Given the description of an element on the screen output the (x, y) to click on. 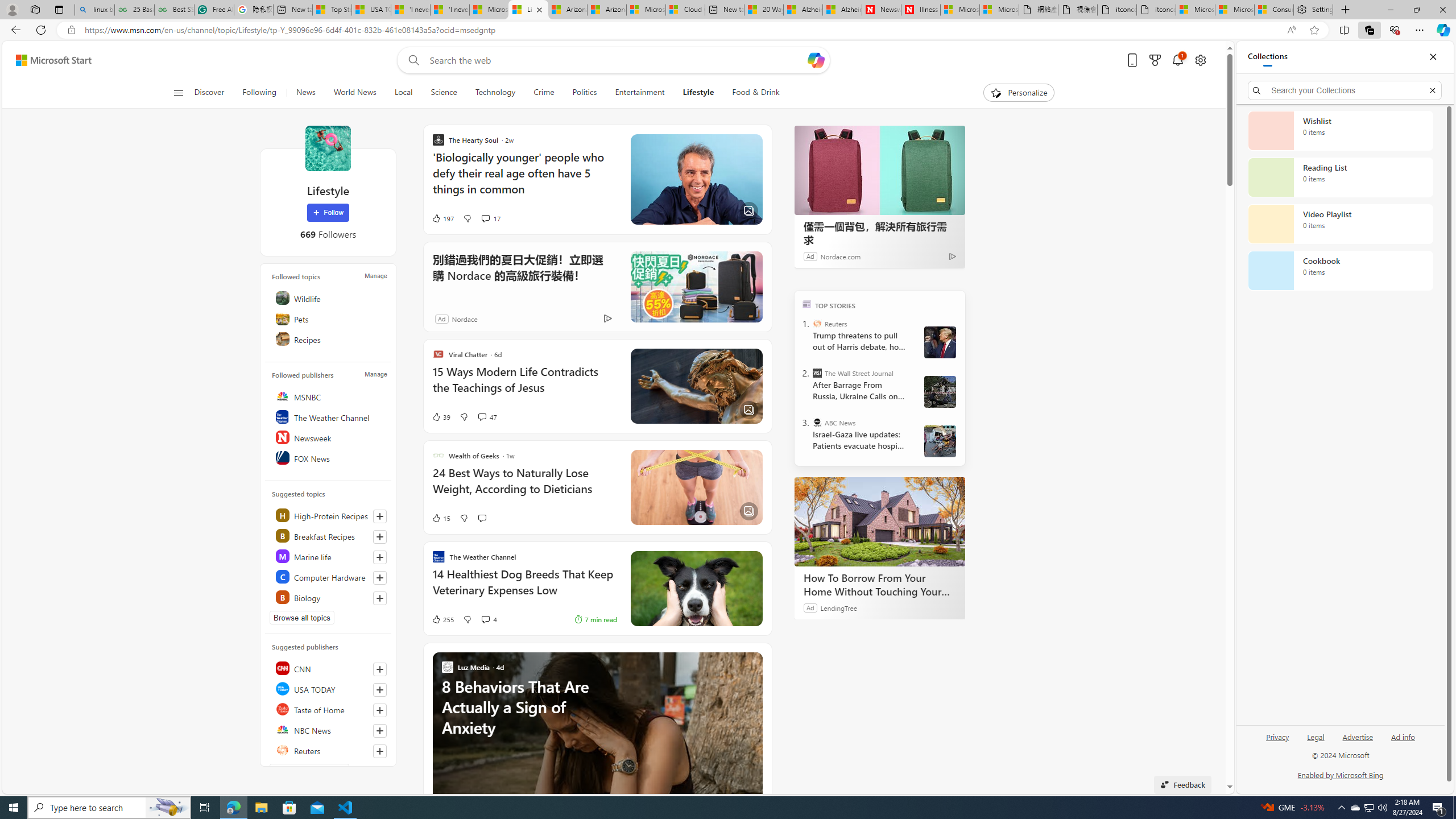
The Weather Channel (328, 416)
Politics (584, 92)
Back (13, 29)
View comments 17 Comment (485, 217)
14 Healthiest Dog Breeds That Keep Veterinary Expenses Low (524, 587)
Local (403, 92)
Settings and more (Alt+F) (1419, 29)
CNN (328, 668)
Lifestyle (327, 148)
Address and search bar (680, 29)
Lifestyle - MSN (528, 9)
Open Copilot (816, 59)
Skip to content (49, 59)
Consumer Health Data Privacy Policy (1273, 9)
